Given the description of an element on the screen output the (x, y) to click on. 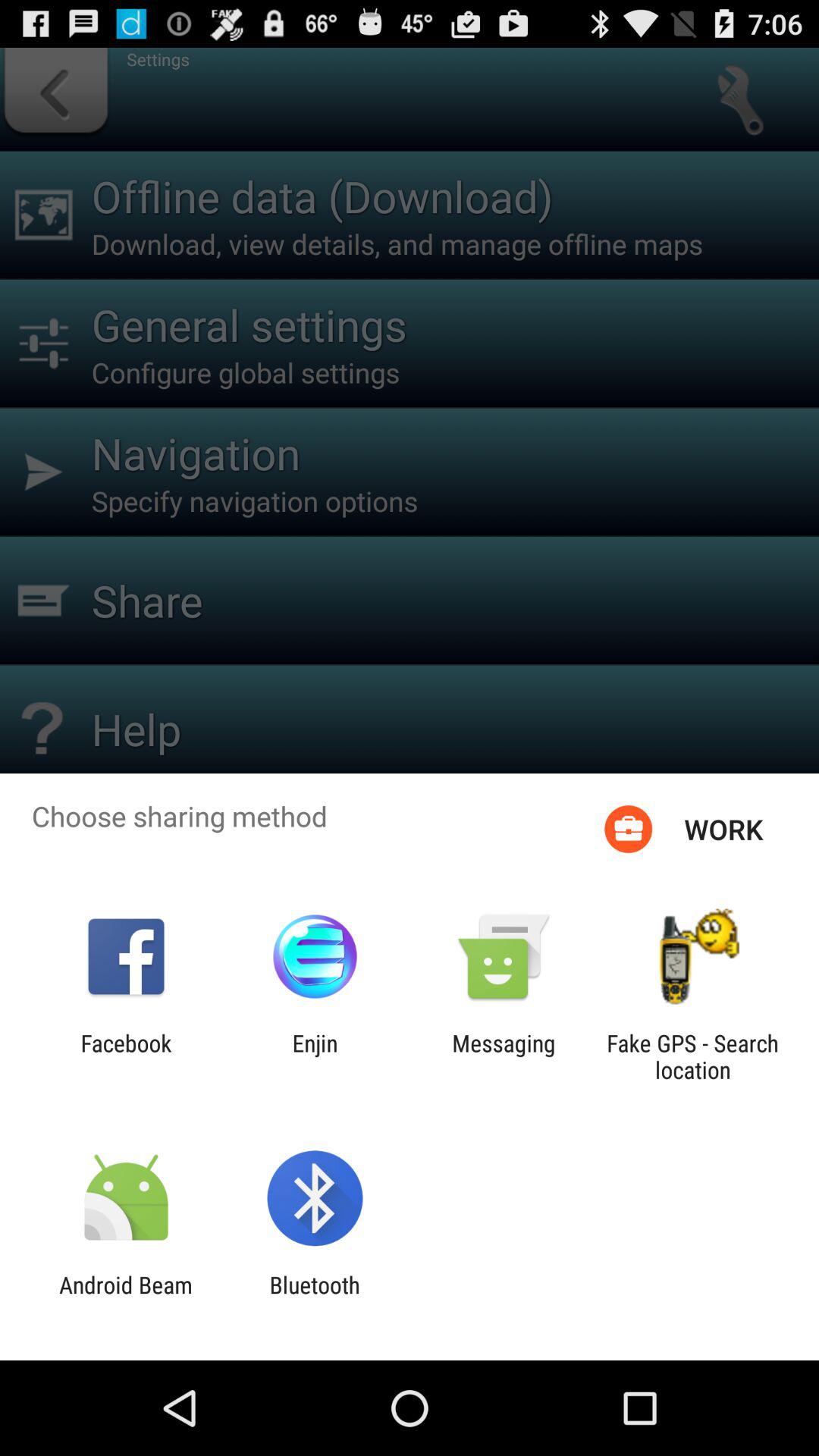
scroll until bluetooth app (314, 1298)
